Given the description of an element on the screen output the (x, y) to click on. 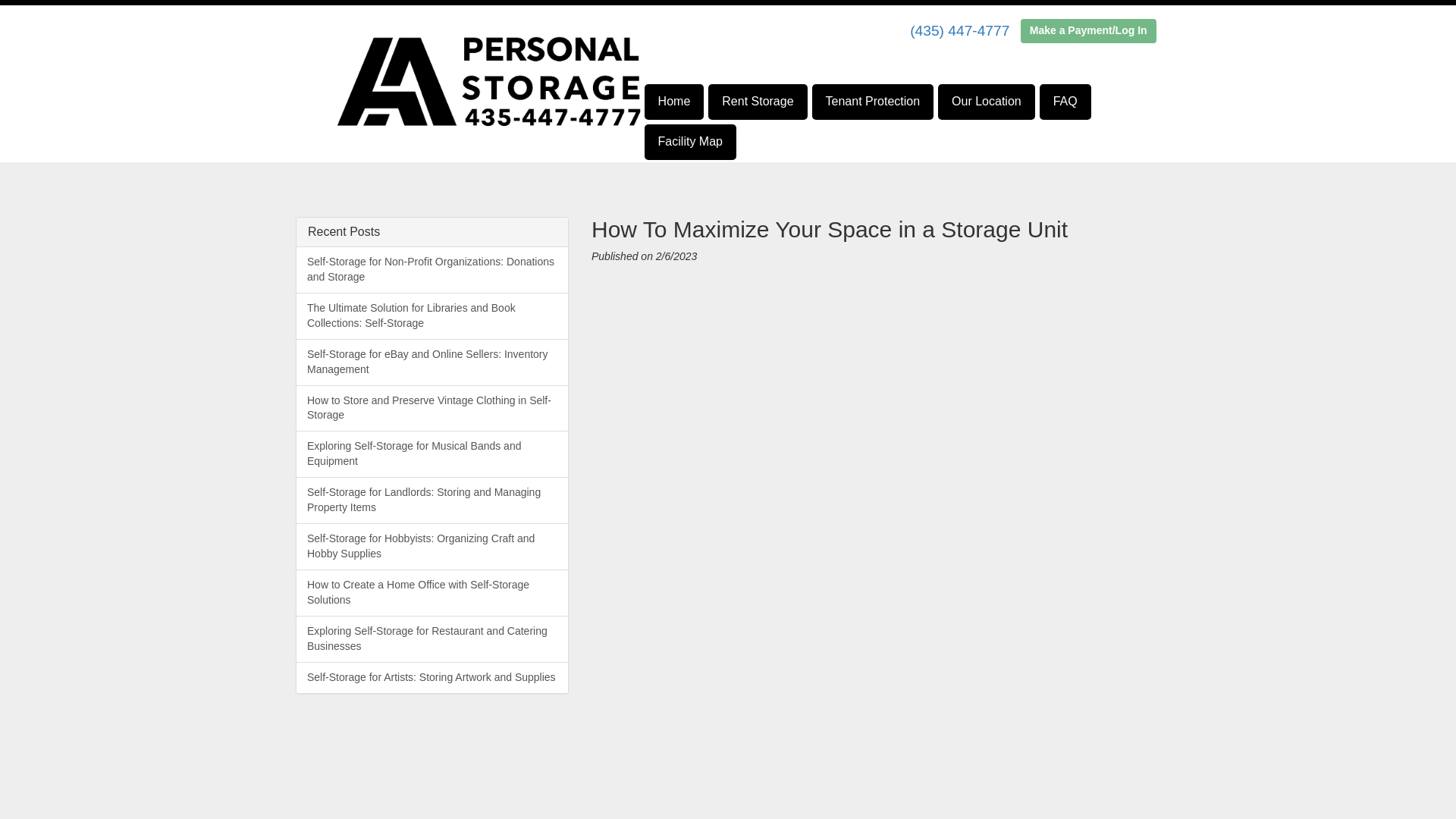
Facility Map (690, 141)
Our Location (986, 101)
Tenant Protection (873, 101)
FAQ (1064, 101)
Home (674, 101)
Self-Storage for Artists: Storing Artwork and Supplies (432, 676)
Exploring Self-Storage for Musical Bands and Equipment (432, 453)
How to Store and Preserve Vintage Clothing in Self-Storage (432, 408)
How to Create a Home Office with Self-Storage Solutions (432, 592)
Rent Storage (756, 101)
